Given the description of an element on the screen output the (x, y) to click on. 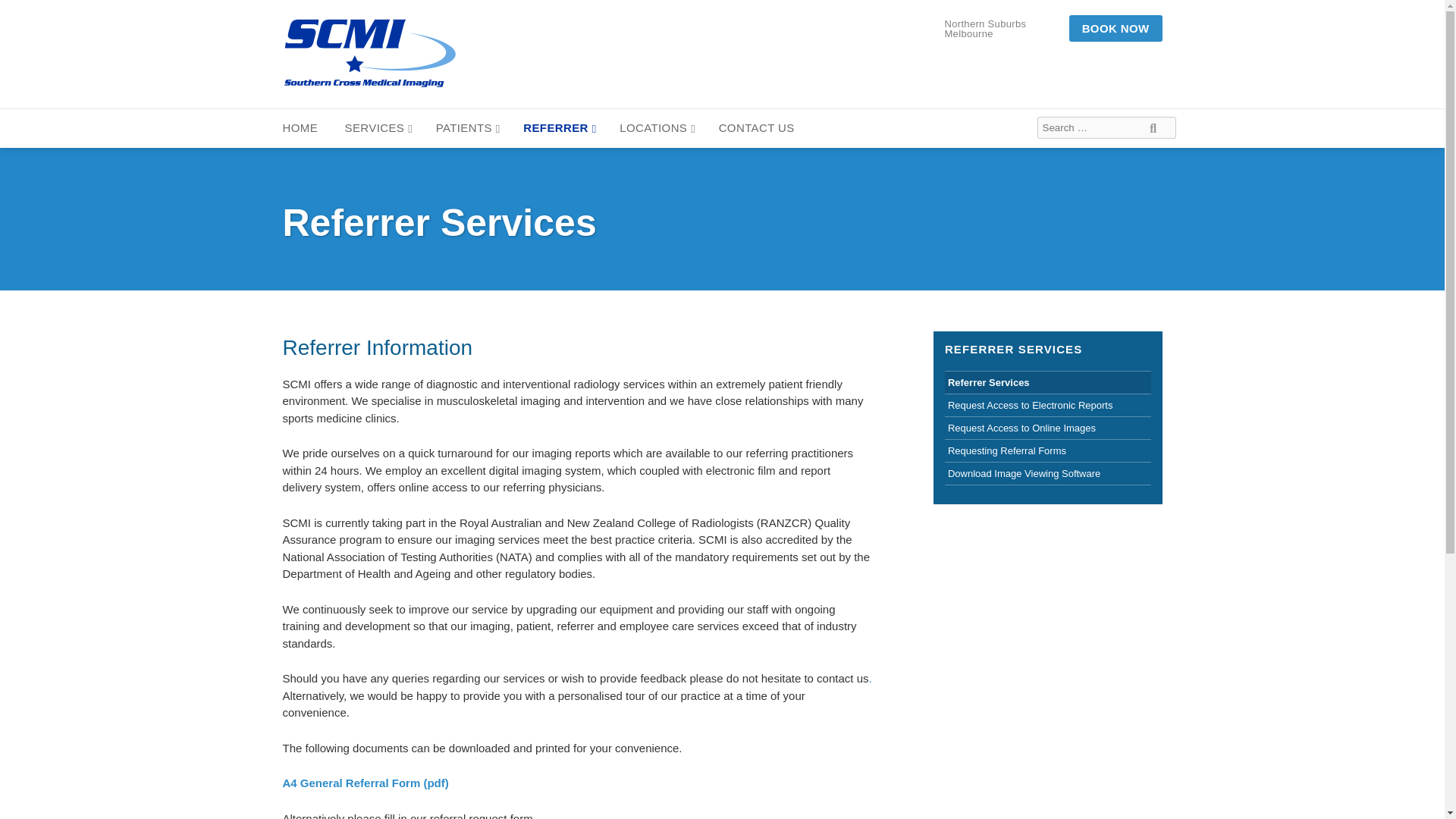
Northern Suburbs Melbourne (1002, 27)
Skip to content (53, 114)
REFERRER (558, 128)
BOOK NOW (1114, 28)
SKIP TO CONTENT (53, 114)
Download Image Viewing Software (1047, 473)
LOCATIONS (657, 128)
Request Access to Electronic Reports (1047, 404)
Requesting Referral Forms (1047, 450)
Referrer Services (1047, 382)
Request Access to Online Images (1047, 427)
CONTACT US (758, 128)
PATIENTS (467, 128)
SERVICES (379, 128)
. (868, 677)
